Given the description of an element on the screen output the (x, y) to click on. 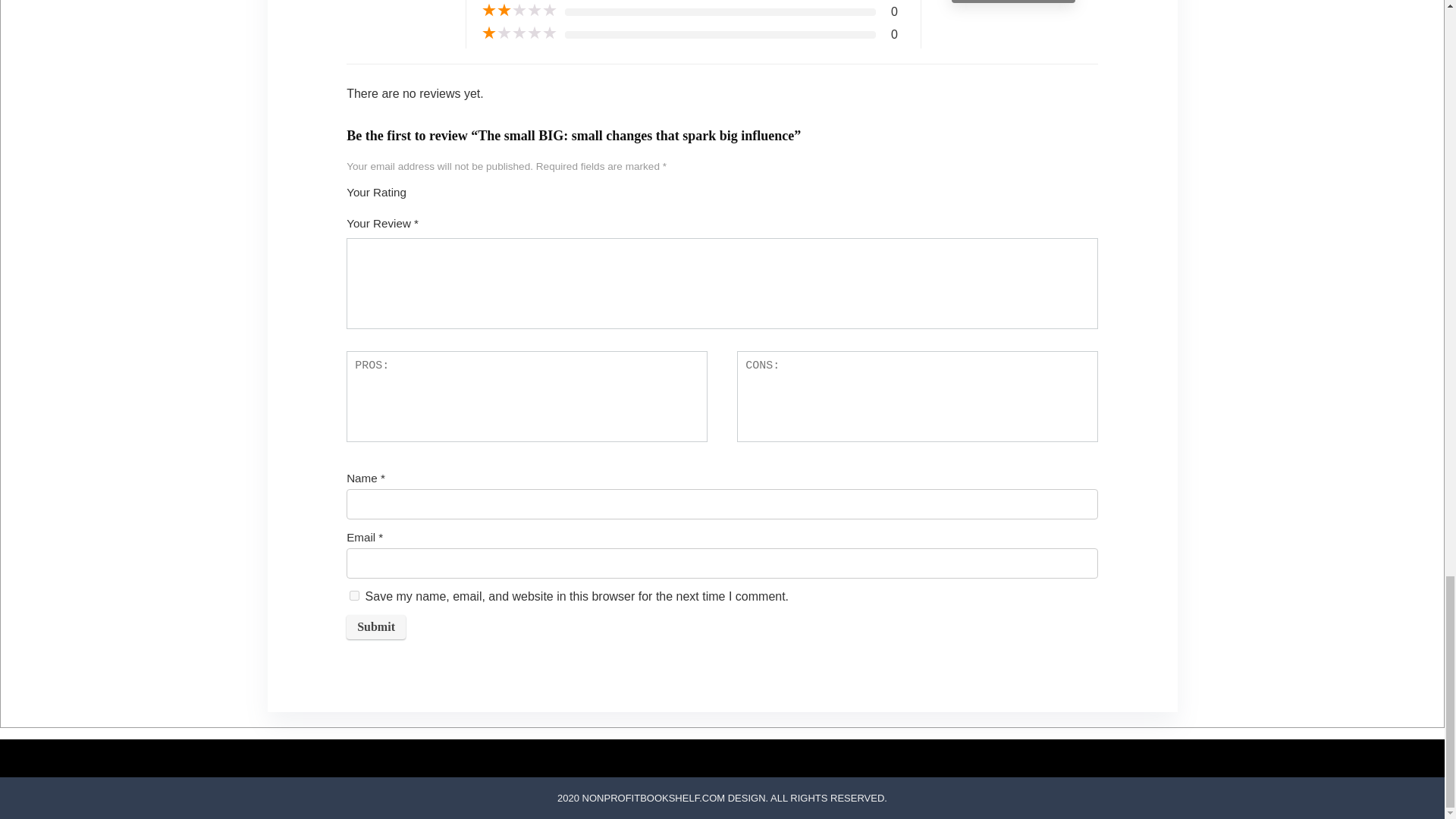
WRITE A REVIEW (1013, 1)
Rated 1 out of 5 (519, 32)
yes (354, 595)
Submit (376, 627)
Rated 2 out of 5 (519, 10)
